Given the description of an element on the screen output the (x, y) to click on. 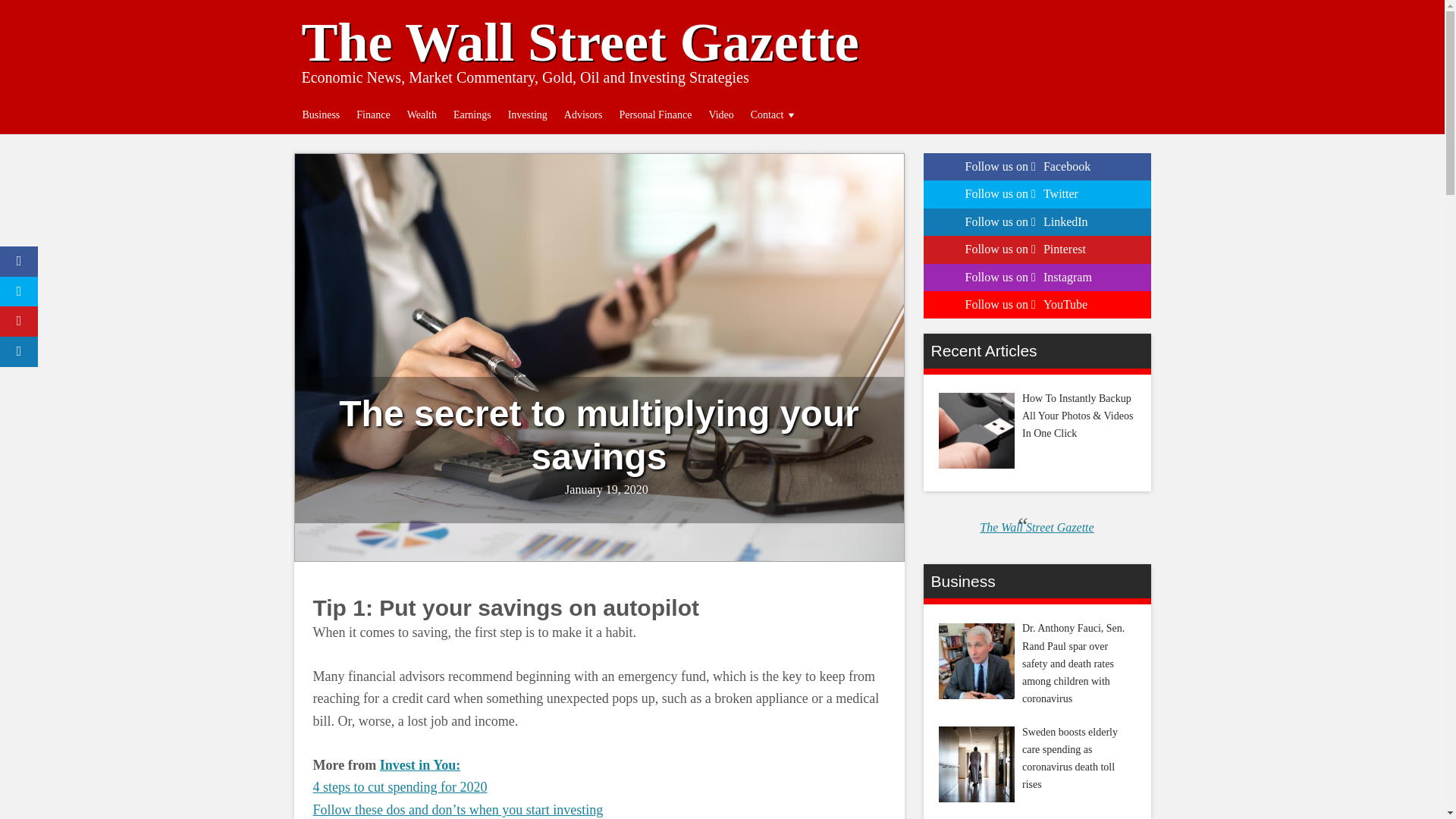
Wealth (421, 115)
Finance (372, 115)
Personal Finance (655, 115)
Video (720, 115)
Contact (774, 115)
Earnings (472, 115)
Business (321, 115)
The Wall Street Gazette (580, 42)
Investing (527, 115)
Advisors (583, 115)
